Given the description of an element on the screen output the (x, y) to click on. 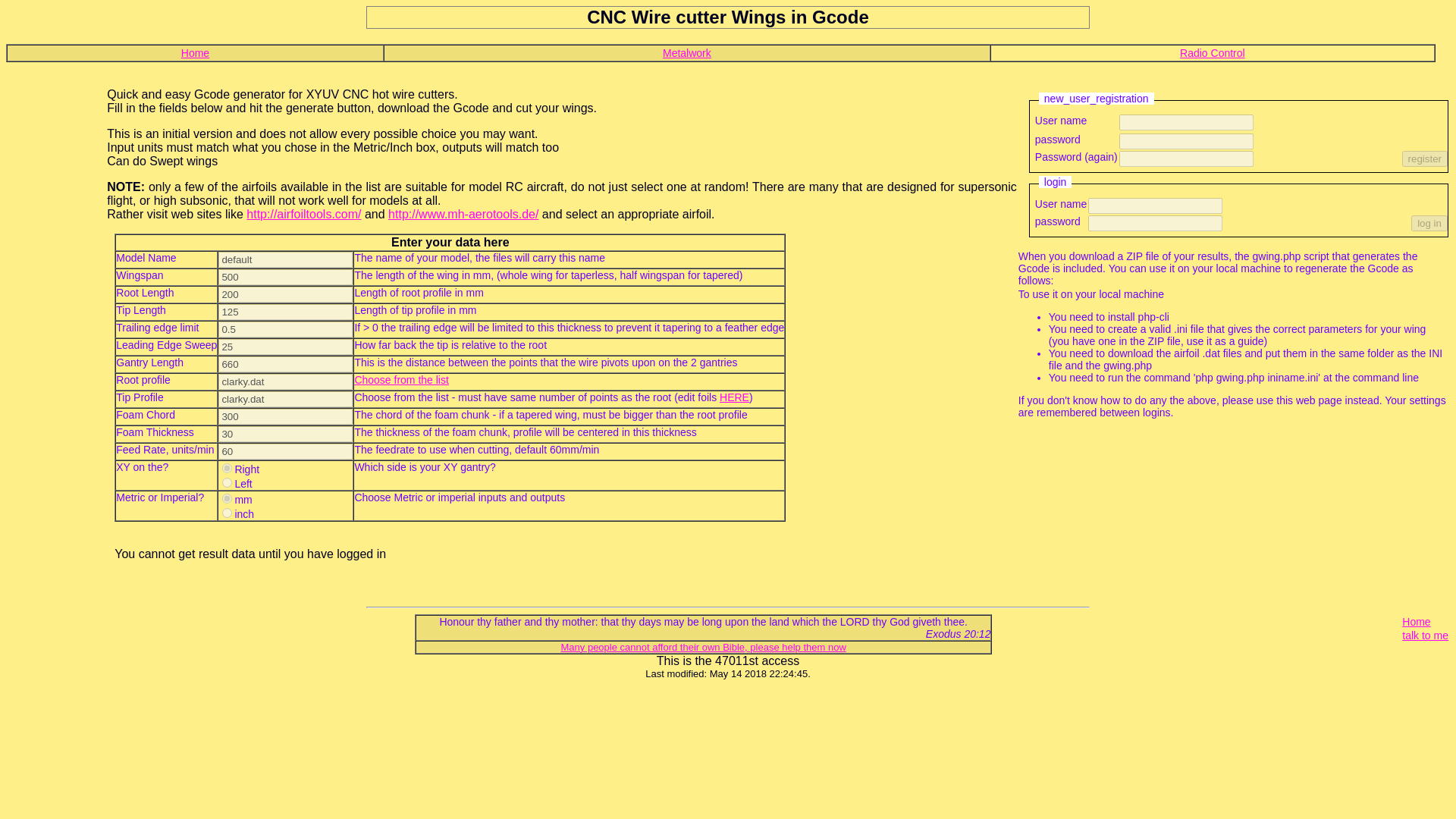
60 (285, 451)
clarky.dat (285, 381)
0.5 (285, 329)
30 (285, 433)
200 (285, 294)
660 (285, 364)
0 (226, 468)
HERE (734, 397)
25 (285, 346)
Metalwork (686, 52)
125 (285, 311)
Radio Control (1211, 52)
Home (1415, 621)
300 (285, 416)
default (285, 259)
